Given the description of an element on the screen output the (x, y) to click on. 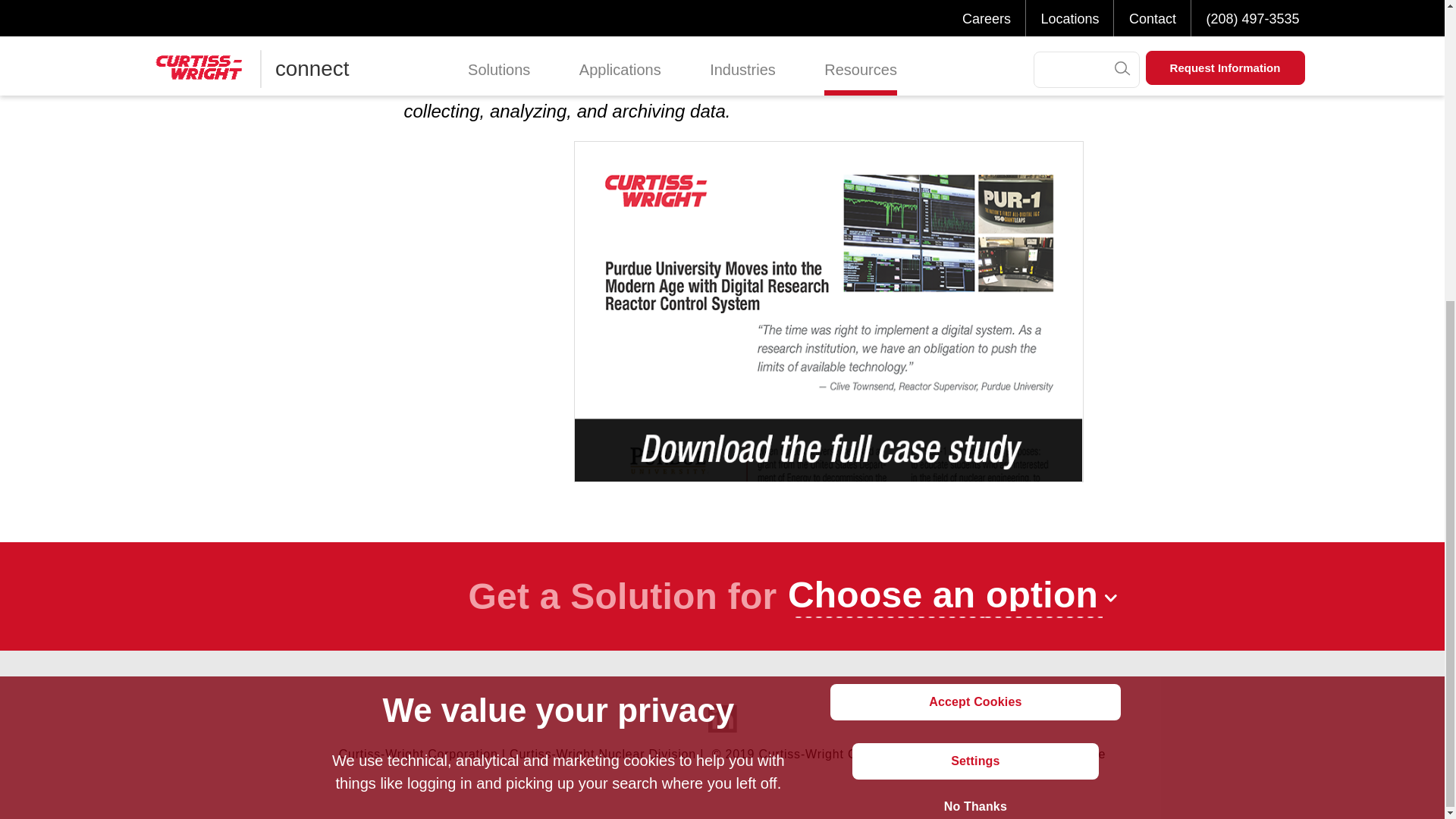
Choose an option (952, 596)
Settings (974, 290)
No Thanks (974, 336)
Curtiss-Wright Corporation (418, 753)
Accept Cookies (974, 231)
